Given the description of an element on the screen output the (x, y) to click on. 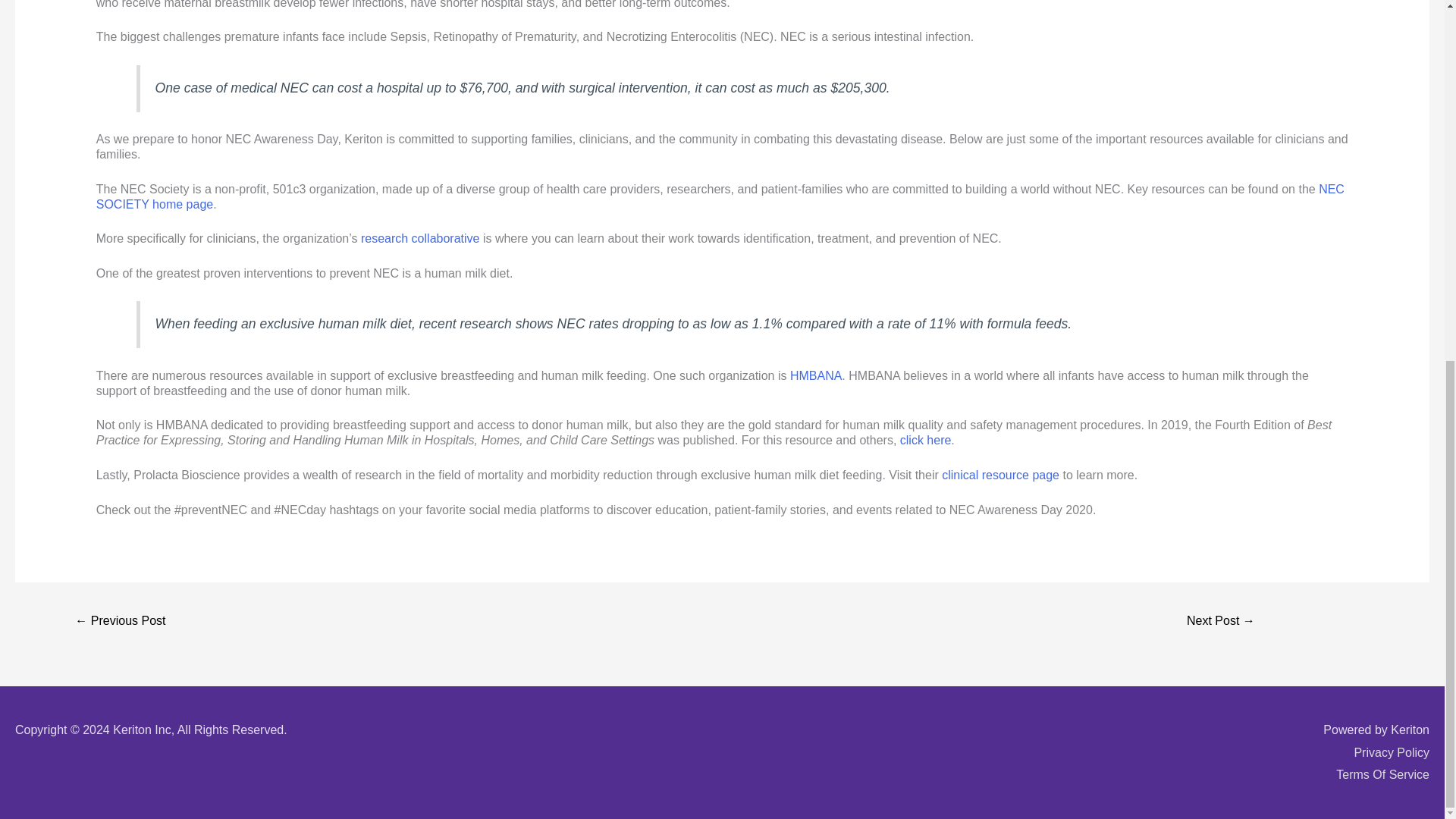
click here (925, 440)
Privacy Policy (1391, 752)
research collaborative (420, 237)
Terms Of Service (1382, 774)
NEC SOCIETY home page (719, 196)
clinical resource (987, 474)
HMBANA (815, 375)
page (1045, 474)
